Given the description of an element on the screen output the (x, y) to click on. 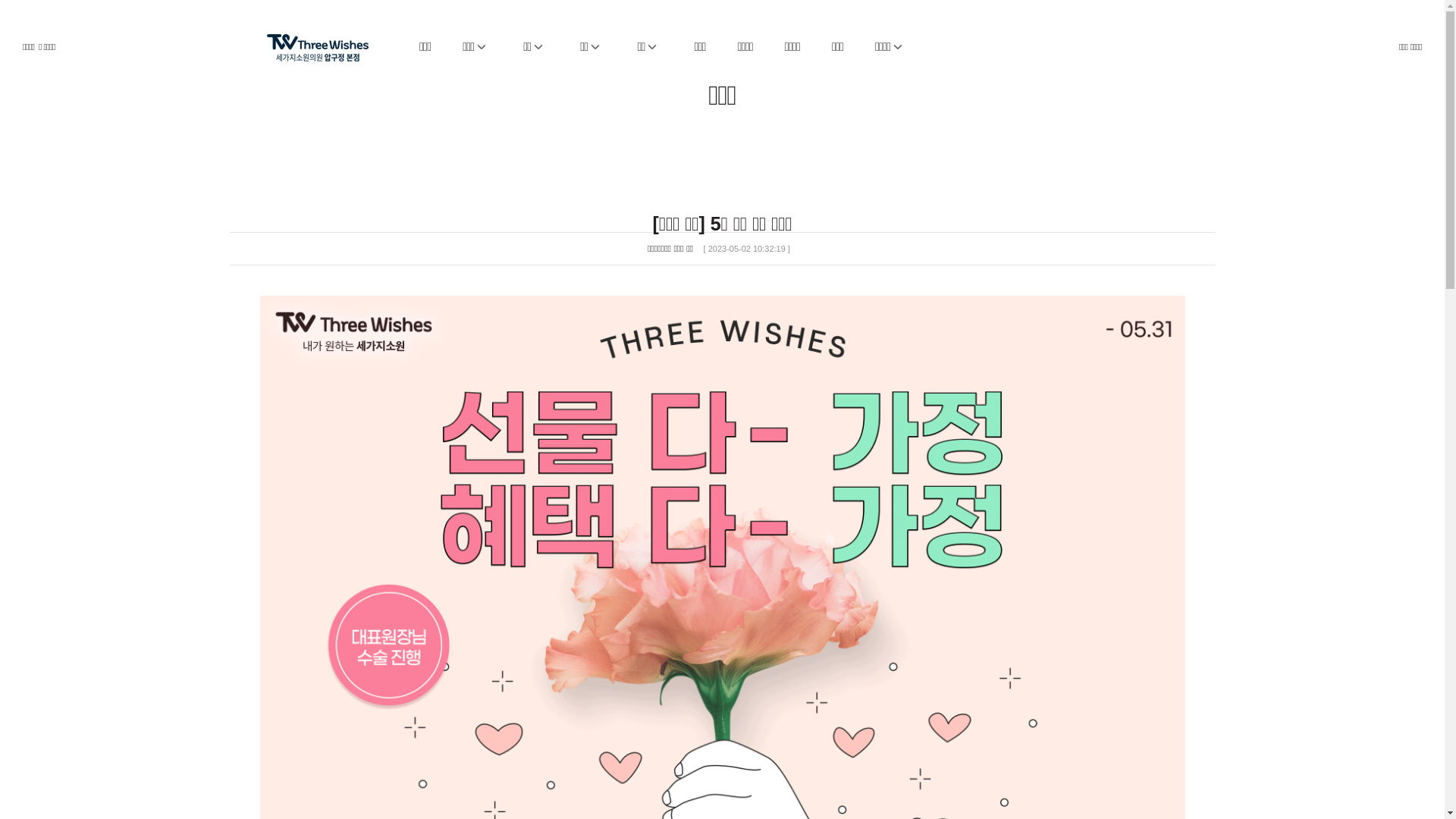
  Element type: text (331, 39)
